Given the description of an element on the screen output the (x, y) to click on. 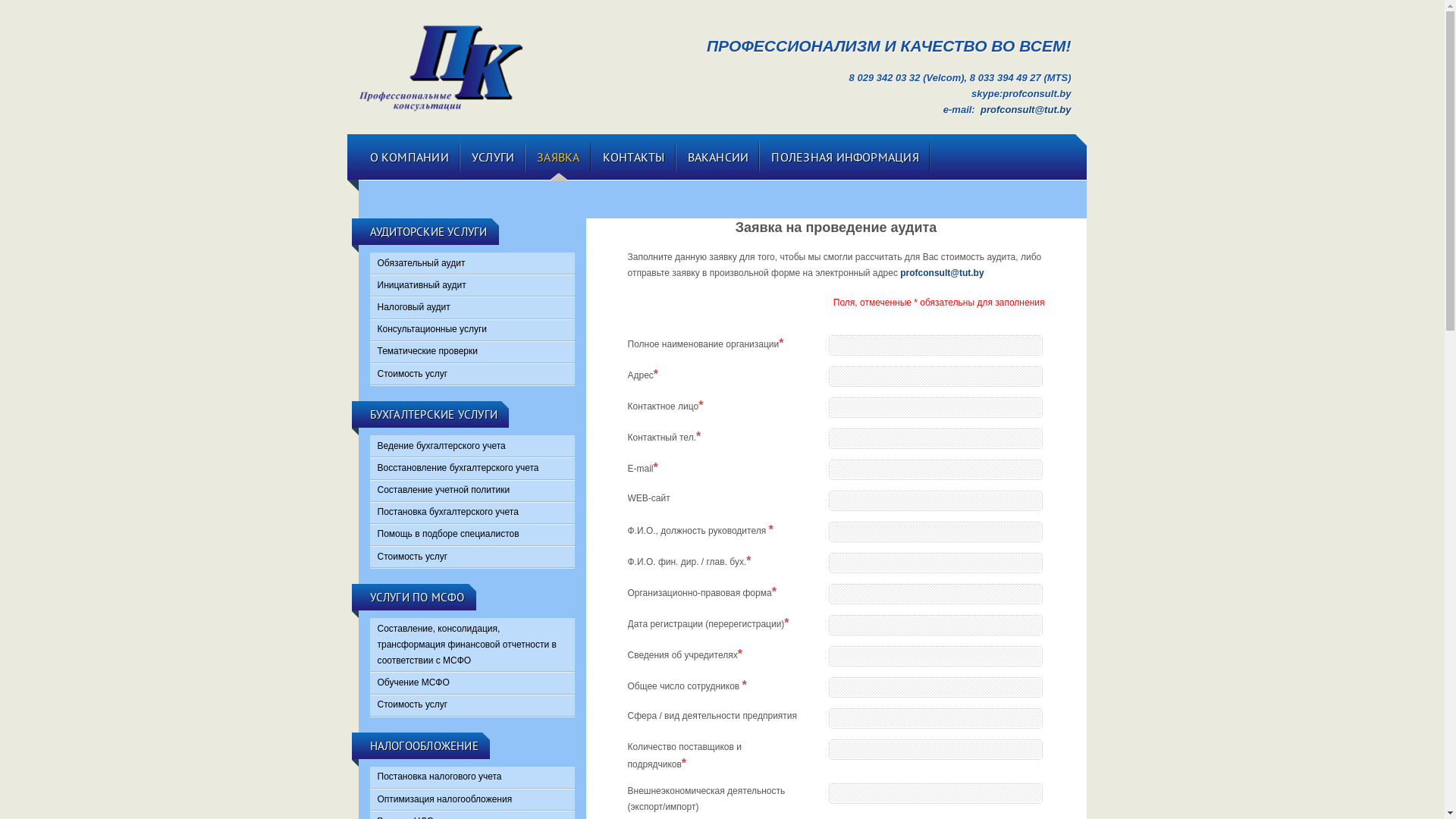
profconsult@tut.by Element type: text (941, 272)
profconsult@tut.by Element type: text (1025, 109)
E-mail Element type: hover (934, 469)
